Given the description of an element on the screen output the (x, y) to click on. 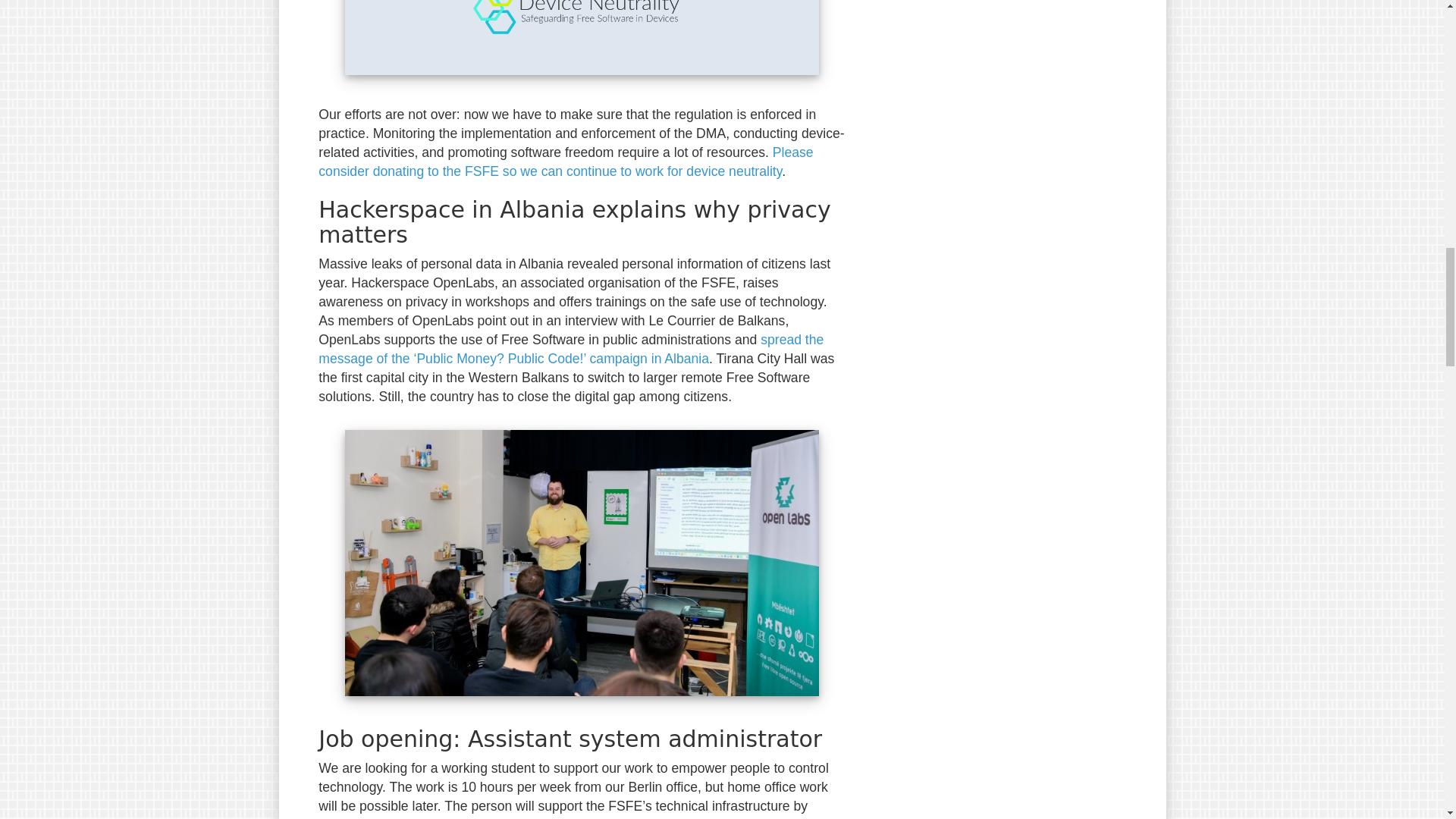
Apply until 16 October (619, 818)
